Given the description of an element on the screen output the (x, y) to click on. 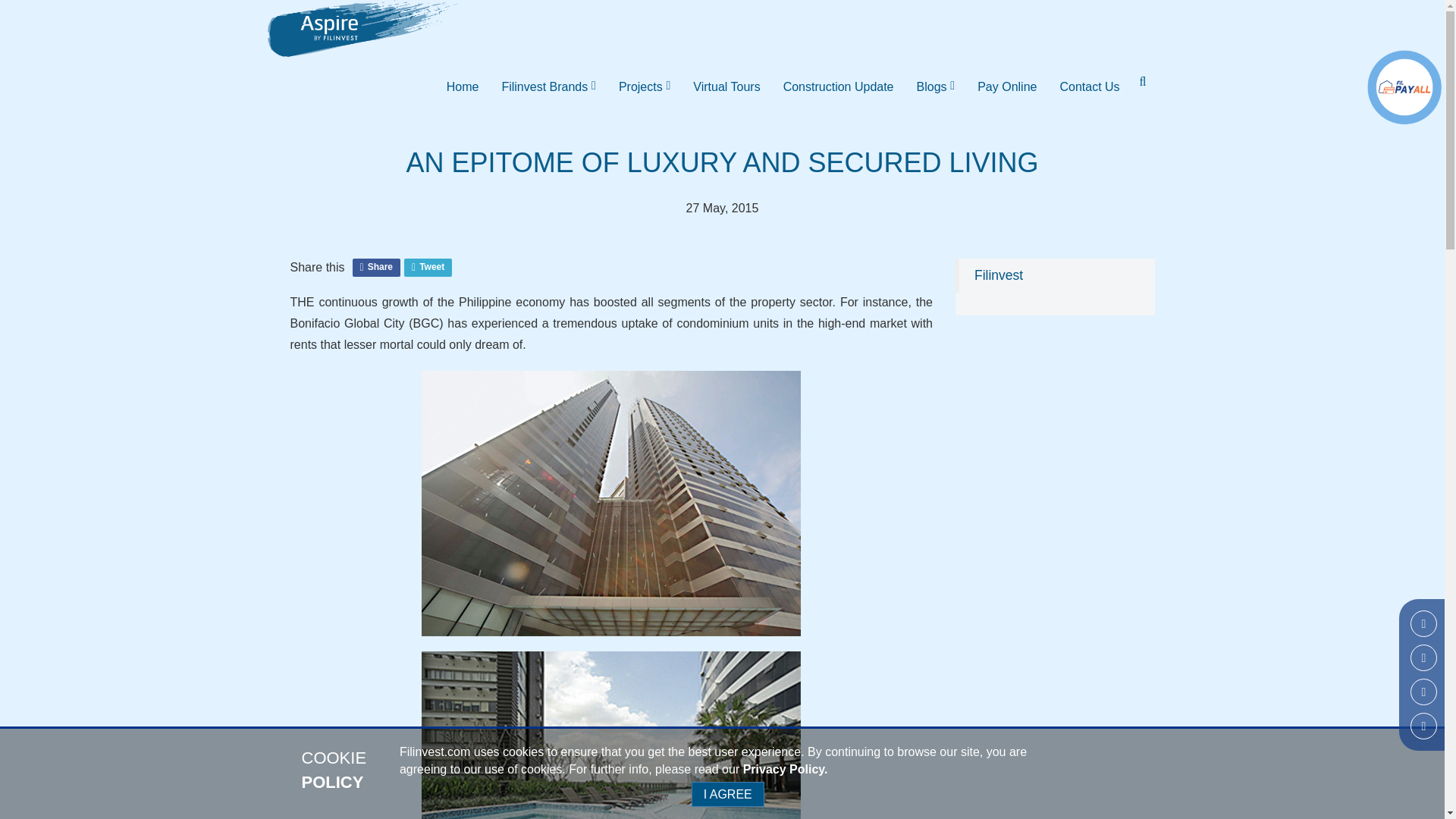
Facebook (1423, 623)
Filinvest (998, 274)
YouTube (1423, 725)
Blogs (935, 86)
Pay Online (1007, 86)
Contact Us (1089, 86)
Tweet (427, 267)
Construction Update (838, 86)
Projects (644, 86)
Instagram (1423, 657)
Share (376, 267)
Webchat Widget (1390, 766)
Home (462, 86)
Filinvest Brands (548, 86)
Virtual Tours (726, 86)
